Given the description of an element on the screen output the (x, y) to click on. 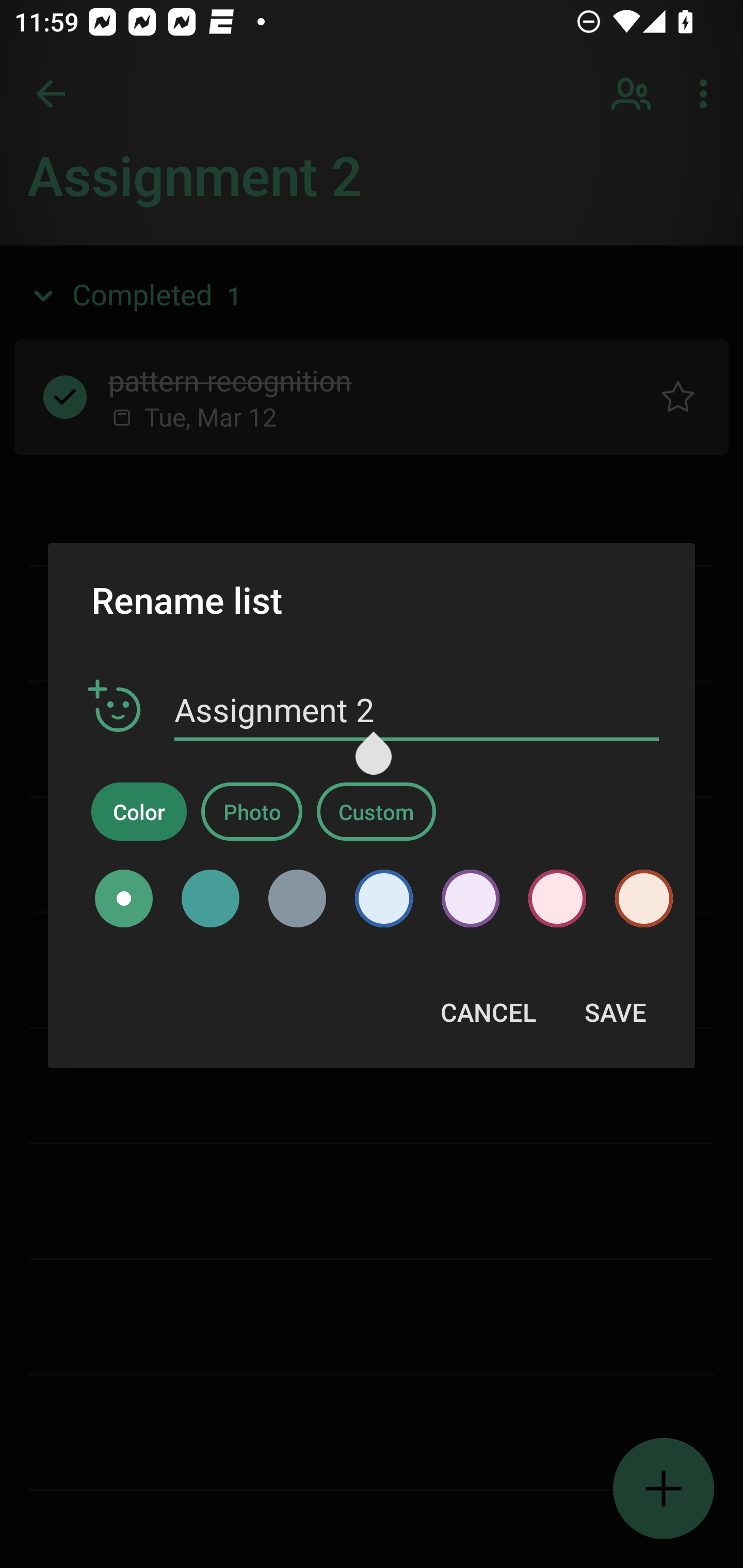
Set Emoji (114, 706)
Assignment 2 (416, 710)
Color Color category (138, 811)
Photo Photo category (251, 811)
Custom Custom category (376, 811)
Selected, Dark green (123, 898)
Dark teal (210, 898)
Dark grey (297, 898)
Light blue (383, 898)
Light purple (470, 898)
Light rose (557, 898)
Light red (636, 898)
CANCEL (488, 1011)
SAVE (615, 1011)
